Given the description of an element on the screen output the (x, y) to click on. 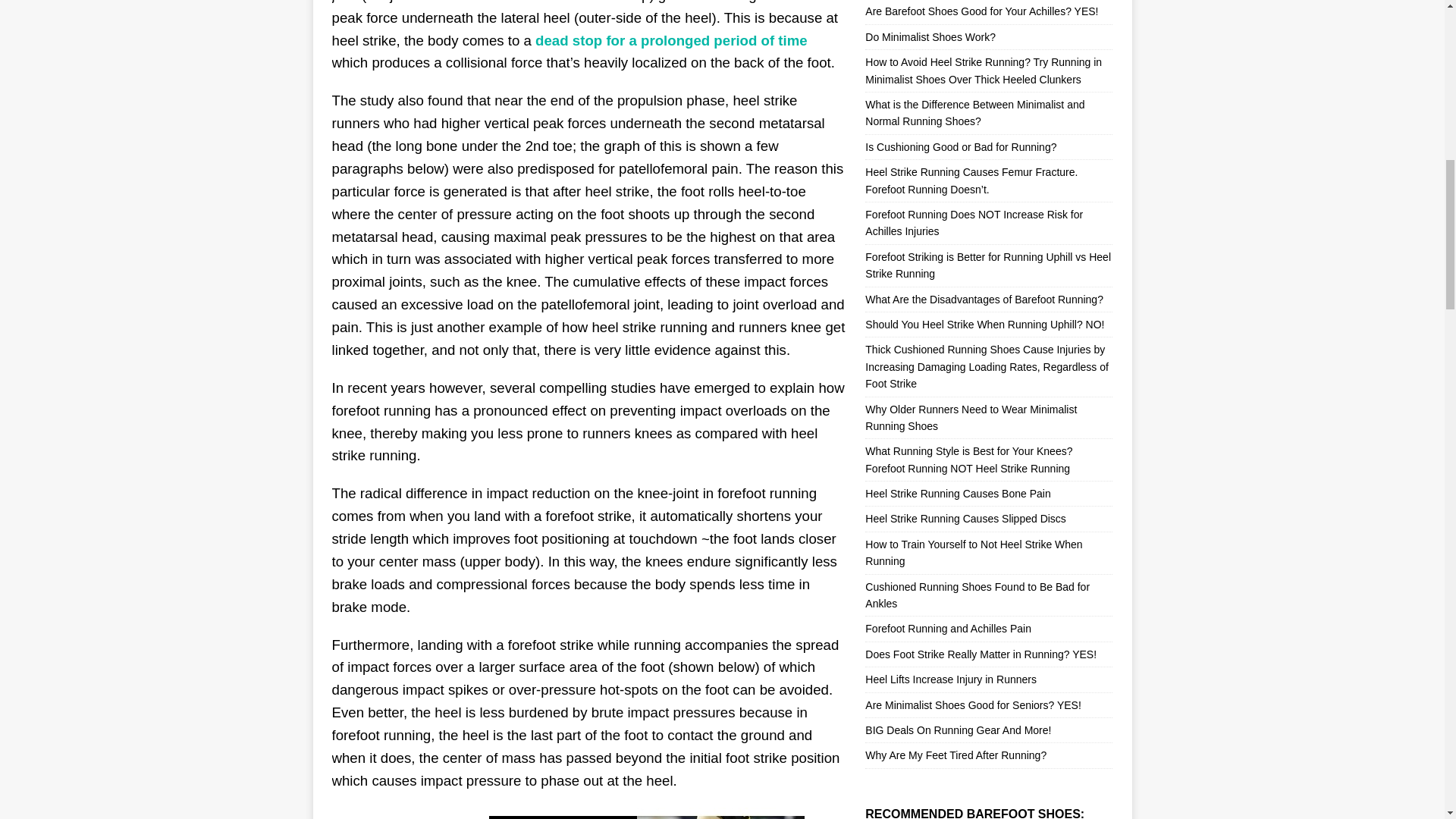
Is Heel Strike Running Bad for the Knees? (589, 813)
dead stop for a prolonged period of time (671, 40)
